Given the description of an element on the screen output the (x, y) to click on. 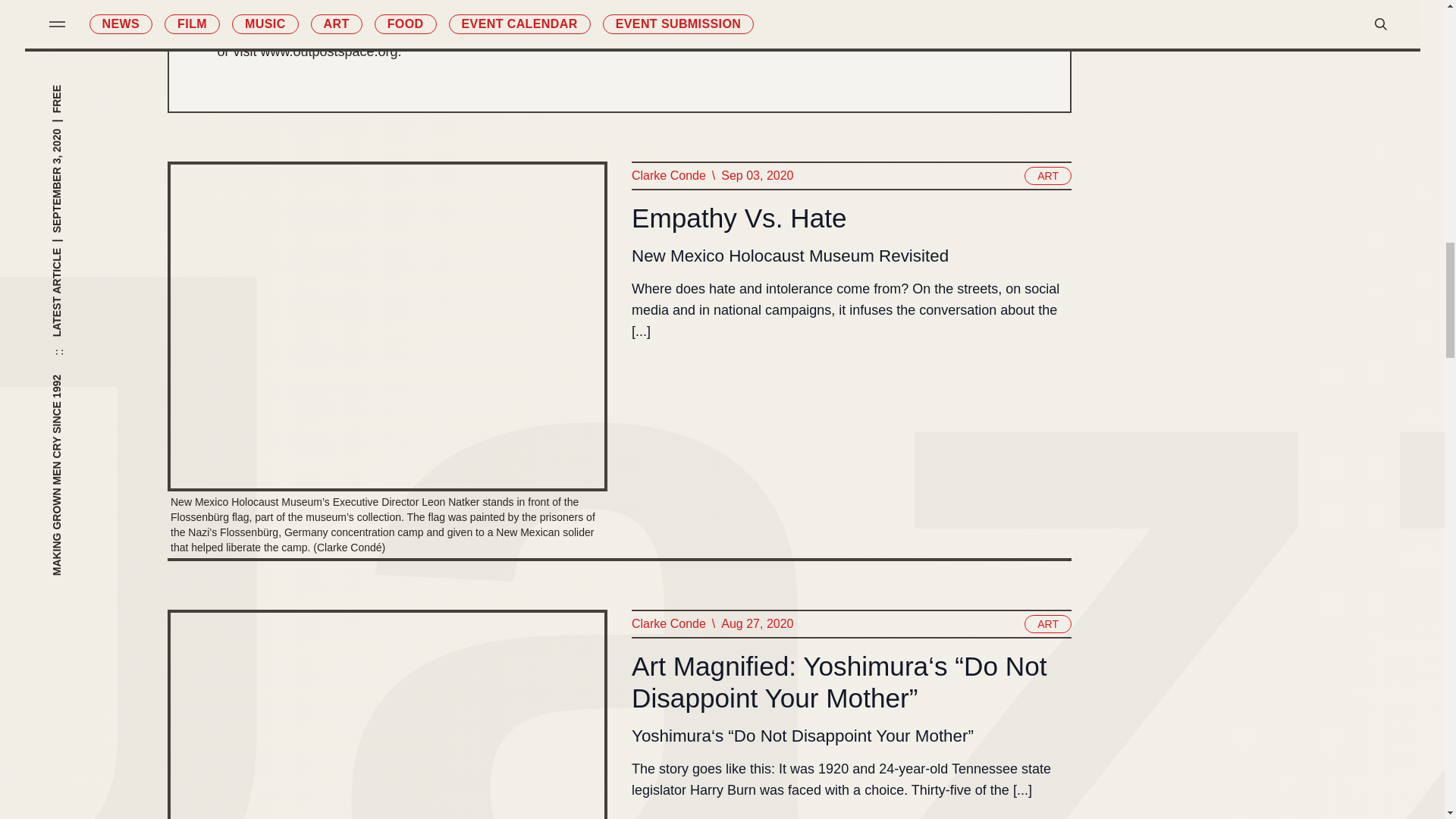
ART (1048, 176)
ART (1048, 624)
Clarke Conde (667, 623)
Clarke Conde (667, 175)
